Given the description of an element on the screen output the (x, y) to click on. 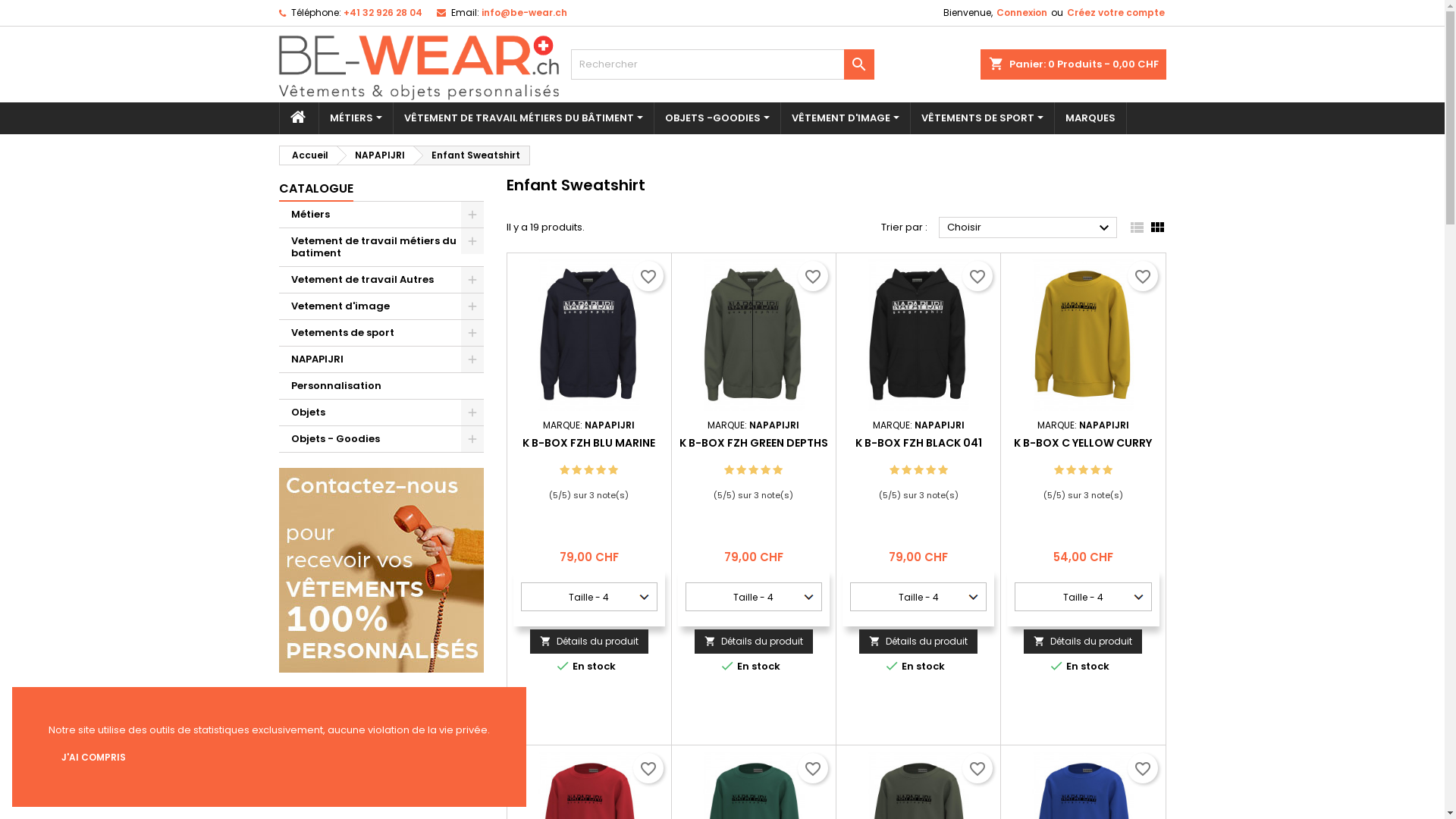
favorite_border Element type: text (977, 275)
info@be-wear.ch Element type: text (523, 12)
5 Element type: hover (777, 470)
5 Element type: hover (1107, 470)
1 Element type: hover (564, 470)
3 Element type: hover (1083, 470)
K B-BOX C YELLOW CURRY Element type: text (1082, 442)
OBJETS -GOODIES Element type: text (716, 118)
2 Element type: hover (576, 470)
Accueil Element type: text (307, 155)
4 Element type: hover (765, 470)
4 Element type: hover (600, 470)
2 Element type: hover (1071, 470)
favorite_border Element type: text (977, 768)
K B-BOX FZH BLACK 041 Element type: text (918, 442)
1 Element type: hover (1058, 470)
2 Element type: hover (741, 470)
NAPAPIJRI Element type: text (1104, 424)
favorite_border Element type: text (1141, 275)
+41 32 926 28 04 Element type: text (381, 12)
CATALOGUE Element type: text (316, 189)
J'AI COMPRIS Element type: text (93, 757)
DERNIERS AVIS Element type: text (380, 747)
NAPAPIJRI Element type: text (939, 424)
Enfant Sweatshirt Element type: text (471, 155)
favorite_border Element type: text (648, 275)
Vetements de sport Element type: text (381, 333)
favorite_border Element type: text (648, 768)
5 Element type: hover (465, 802)
Objets Element type: text (381, 412)
NAPAPIJRI Element type: text (609, 424)
NAPAPIJRI Element type: text (774, 424)
4 Element type: hover (455, 802)
2 Element type: hover (906, 470)
K B-BOX FZH GREEN DEPTHS Element type: text (753, 442)
4 Element type: hover (930, 470)
NAPAPIJRI Element type: text (375, 155)
1 Element type: hover (423, 802)
3 Element type: hover (753, 470)
MARQUES Element type: text (1089, 118)
3 Element type: hover (588, 470)
Personnalisation Element type: text (381, 386)
favorite_border Element type: text (812, 768)
NAPAPIJRI Element type: text (381, 359)
K B-BOX FZH BLU MARINE Element type: text (588, 442)
favorite_border Element type: text (812, 275)
5 Element type: hover (613, 470)
5 Element type: hover (942, 470)
1 Element type: hover (729, 470)
Vetement de travail Autres Element type: text (381, 279)
3 Element type: hover (918, 470)
3 Element type: hover (444, 802)
favorite_border Element type: text (1141, 768)
Connexion Element type: text (1021, 12)
Objets - Goodies Element type: text (381, 439)
Vetement d'image Element type: text (381, 306)
4 Element type: hover (1095, 470)
2 Element type: hover (434, 802)
shopping_cart
Panier: 0 Produits - 0,00 CHF Element type: text (1072, 64)
1 Element type: hover (894, 470)
ACCUEIL Element type: text (298, 118)
